Given the description of an element on the screen output the (x, y) to click on. 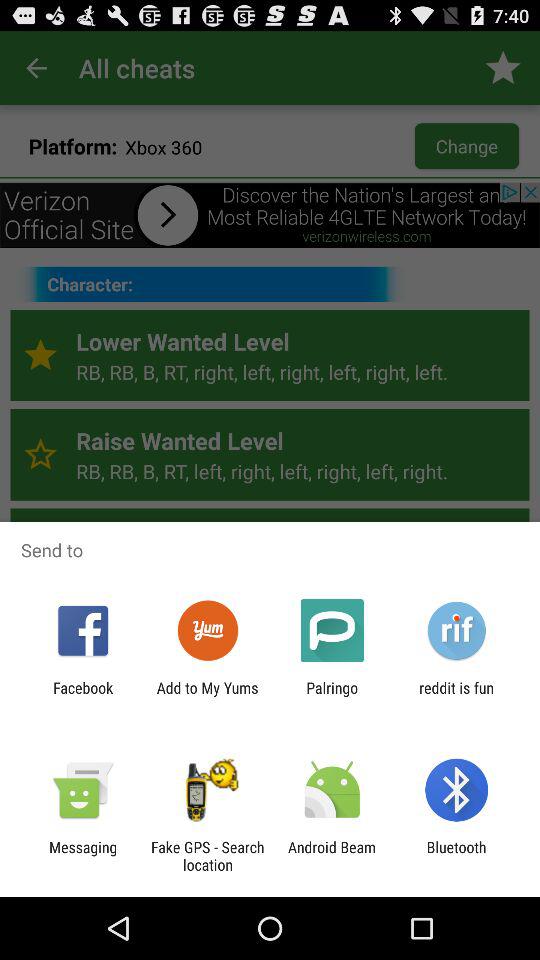
swipe to the fake gps search (207, 856)
